Given the description of an element on the screen output the (x, y) to click on. 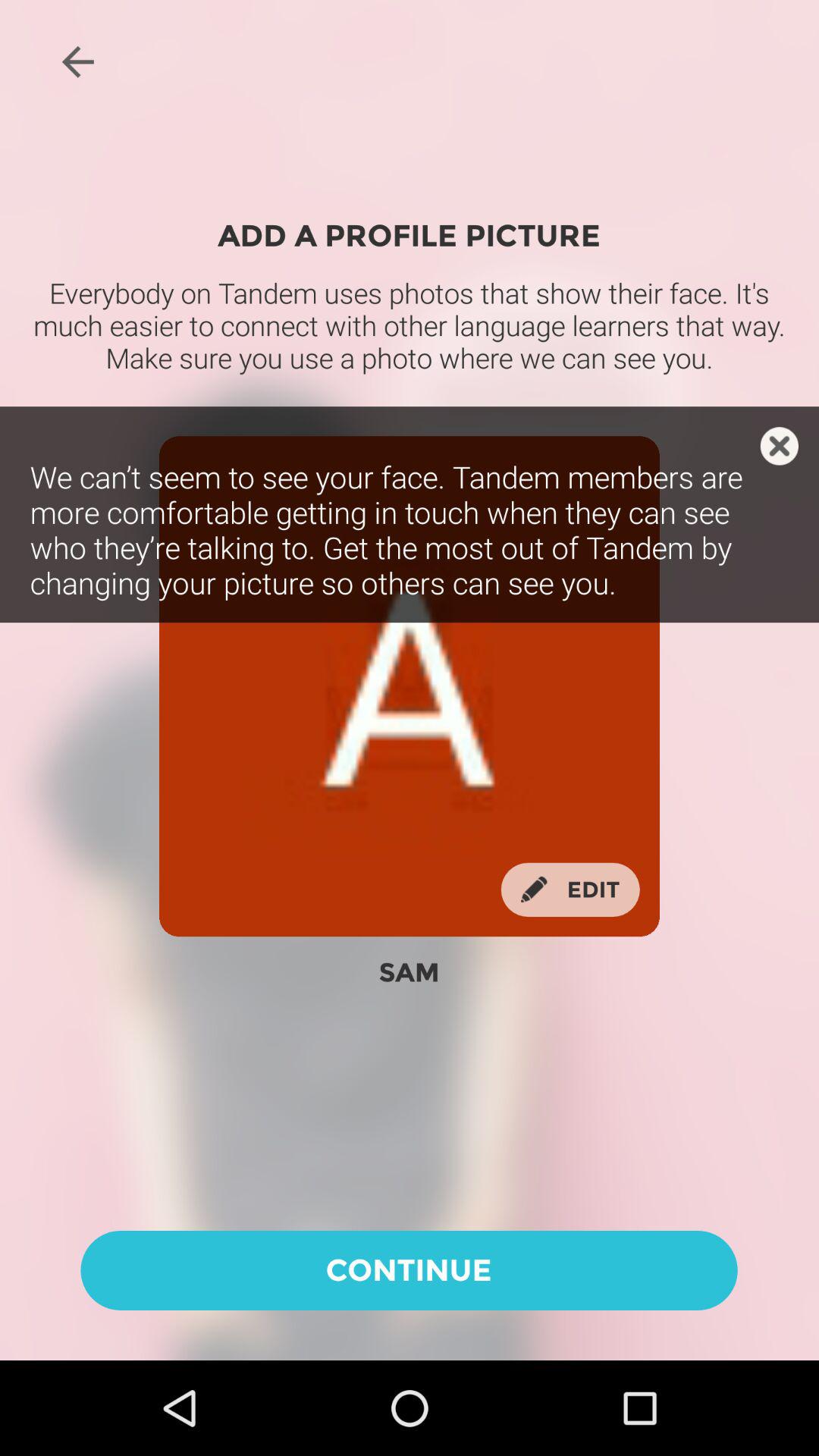
jump to the continue (408, 1270)
